Given the description of an element on the screen output the (x, y) to click on. 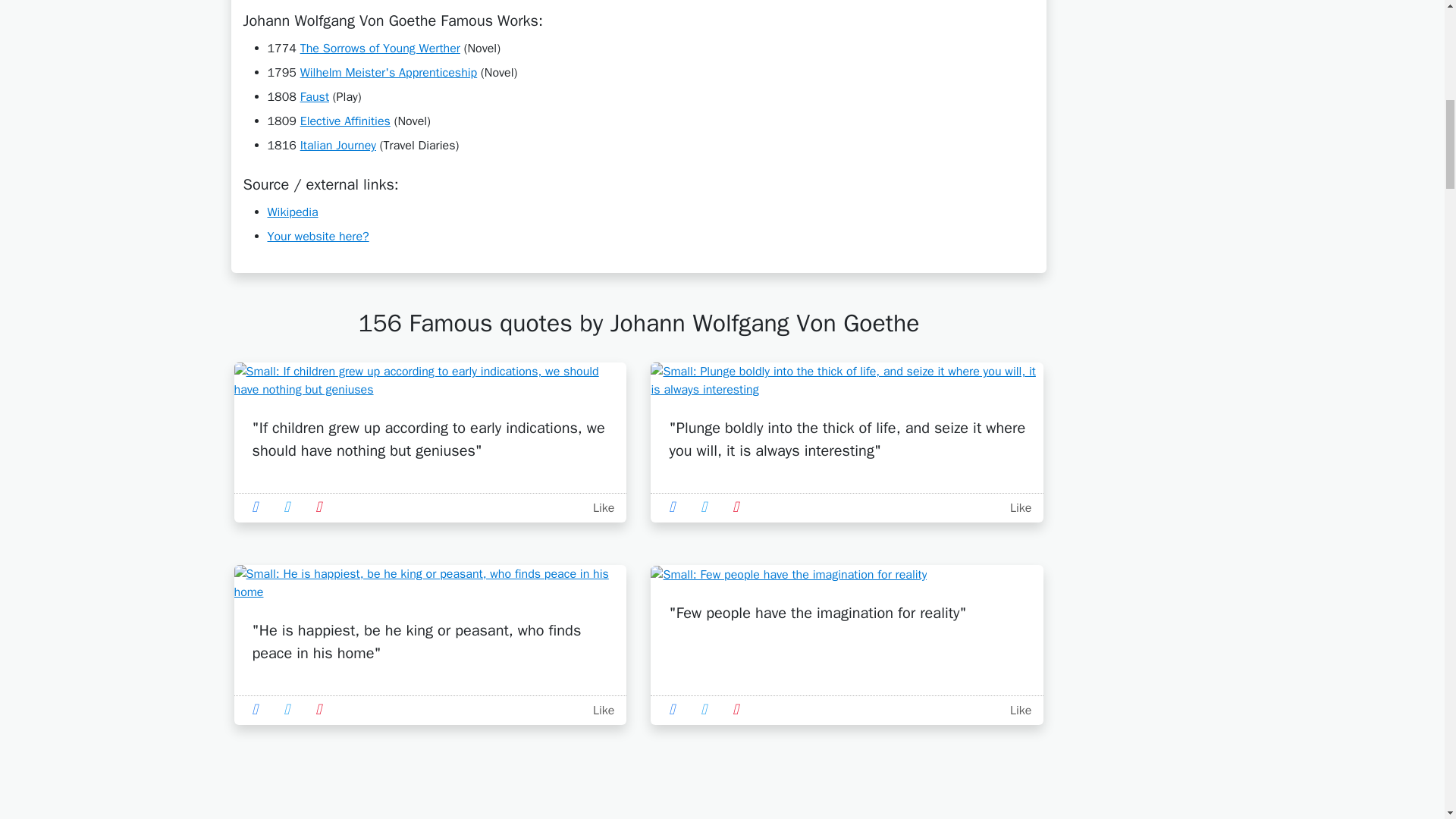
Wikipedia (291, 212)
Italian Journey (337, 145)
Your website here? (317, 236)
Elective Affinities (344, 120)
Vote on the best quotes (1017, 710)
Vote on the best quotes (1017, 507)
Faust (314, 96)
Vote on the best quotes (599, 507)
The Sorrows of Young Werther (379, 48)
Wilhelm Meister's Apprenticeship (388, 72)
